Given the description of an element on the screen output the (x, y) to click on. 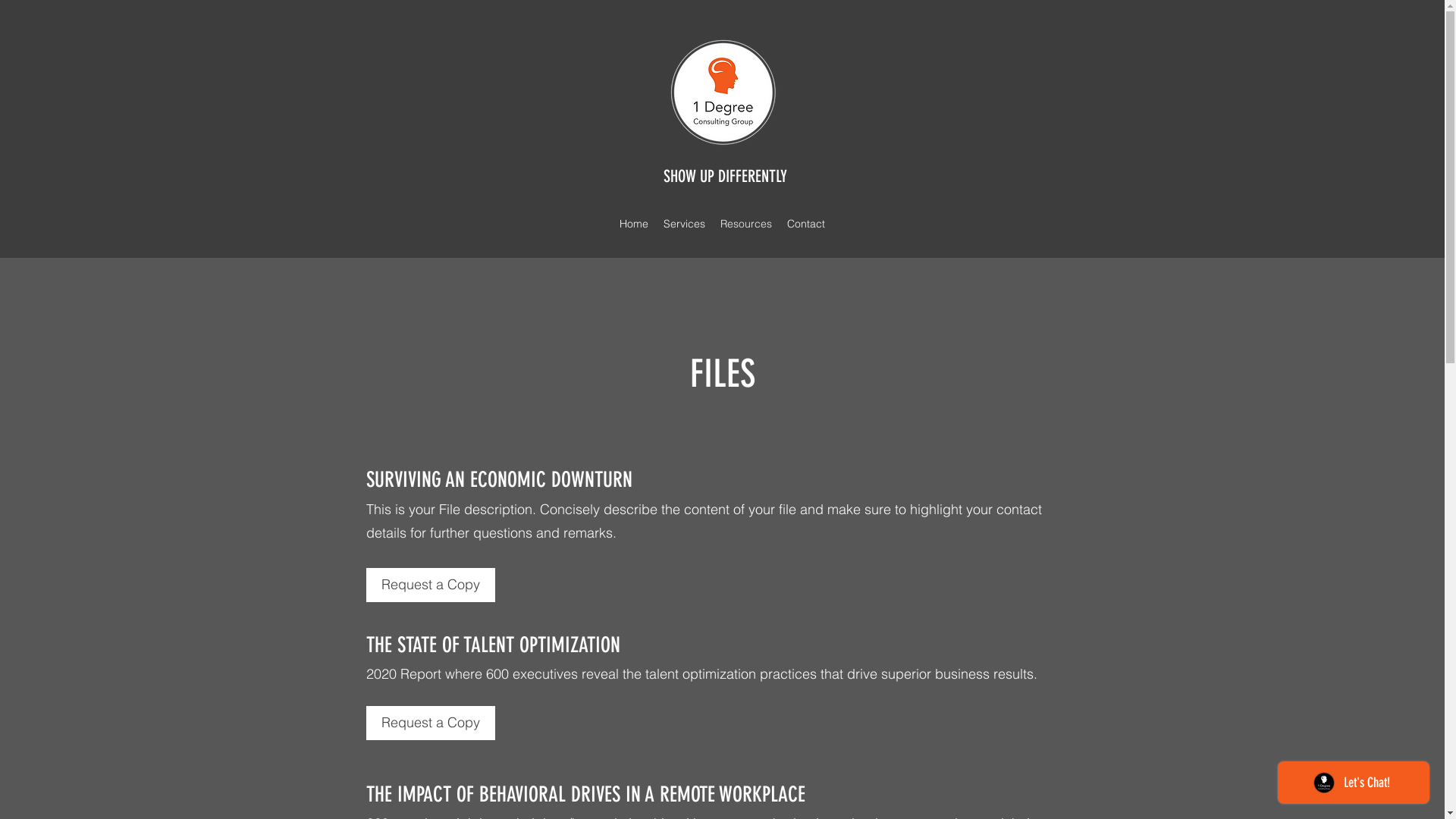
Home Element type: text (633, 223)
Contact Element type: text (805, 223)
Request a Copy Element type: text (429, 584)
Services Element type: text (683, 223)
Resources Element type: text (745, 223)
Request a Copy Element type: text (429, 723)
